Given the description of an element on the screen output the (x, y) to click on. 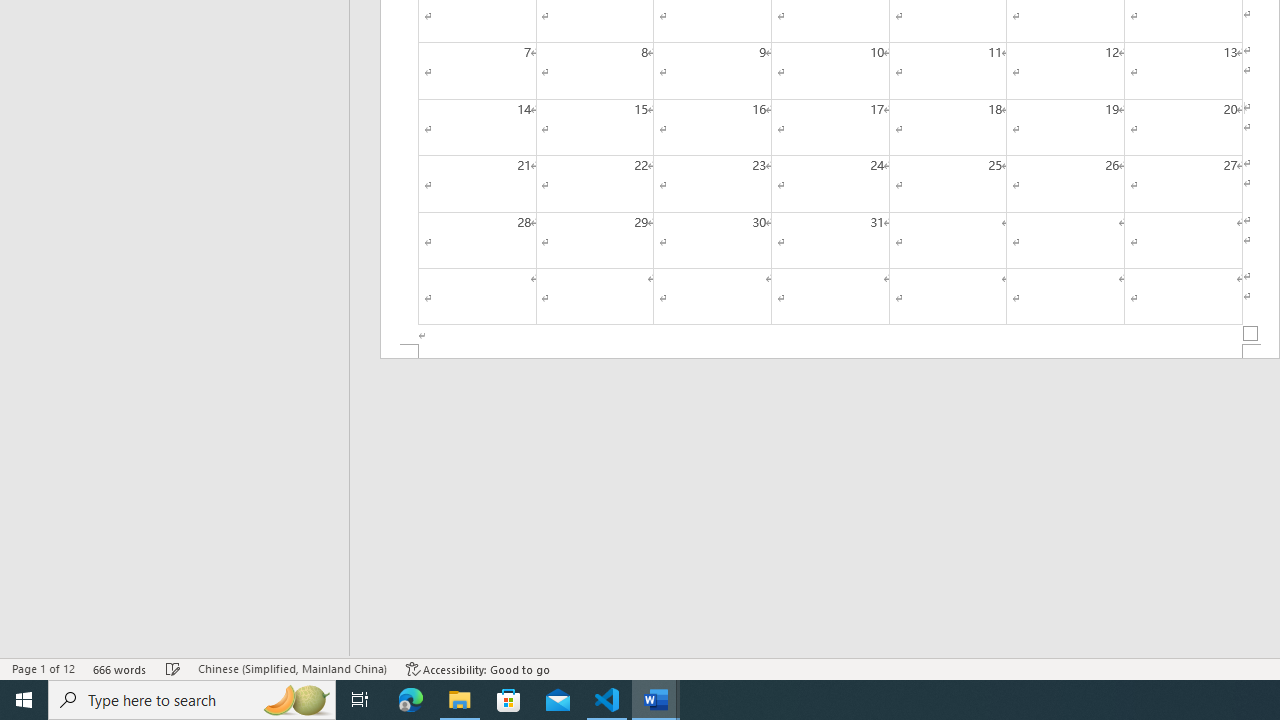
Spelling and Grammar Check Checking (173, 668)
Page Number Page 1 of 12 (43, 668)
Accessibility Checker Accessibility: Good to go (478, 668)
Language Chinese (Simplified, Mainland China) (292, 668)
Footer -Section 1- (830, 351)
Word Count 666 words (119, 668)
